Given the description of an element on the screen output the (x, y) to click on. 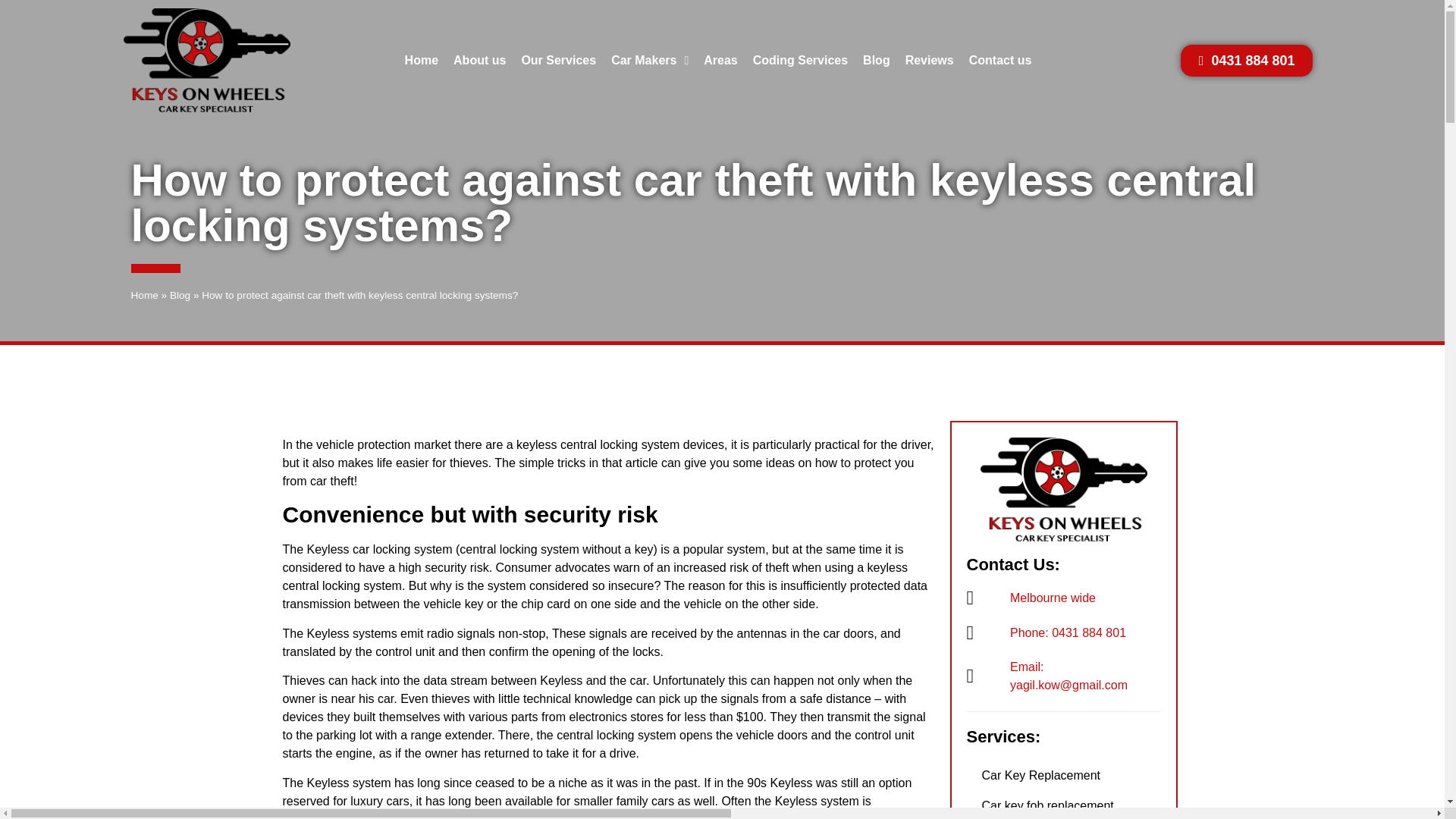
Home (421, 60)
Our Services (558, 60)
About us (479, 60)
Car Makers (649, 60)
